Given the description of an element on the screen output the (x, y) to click on. 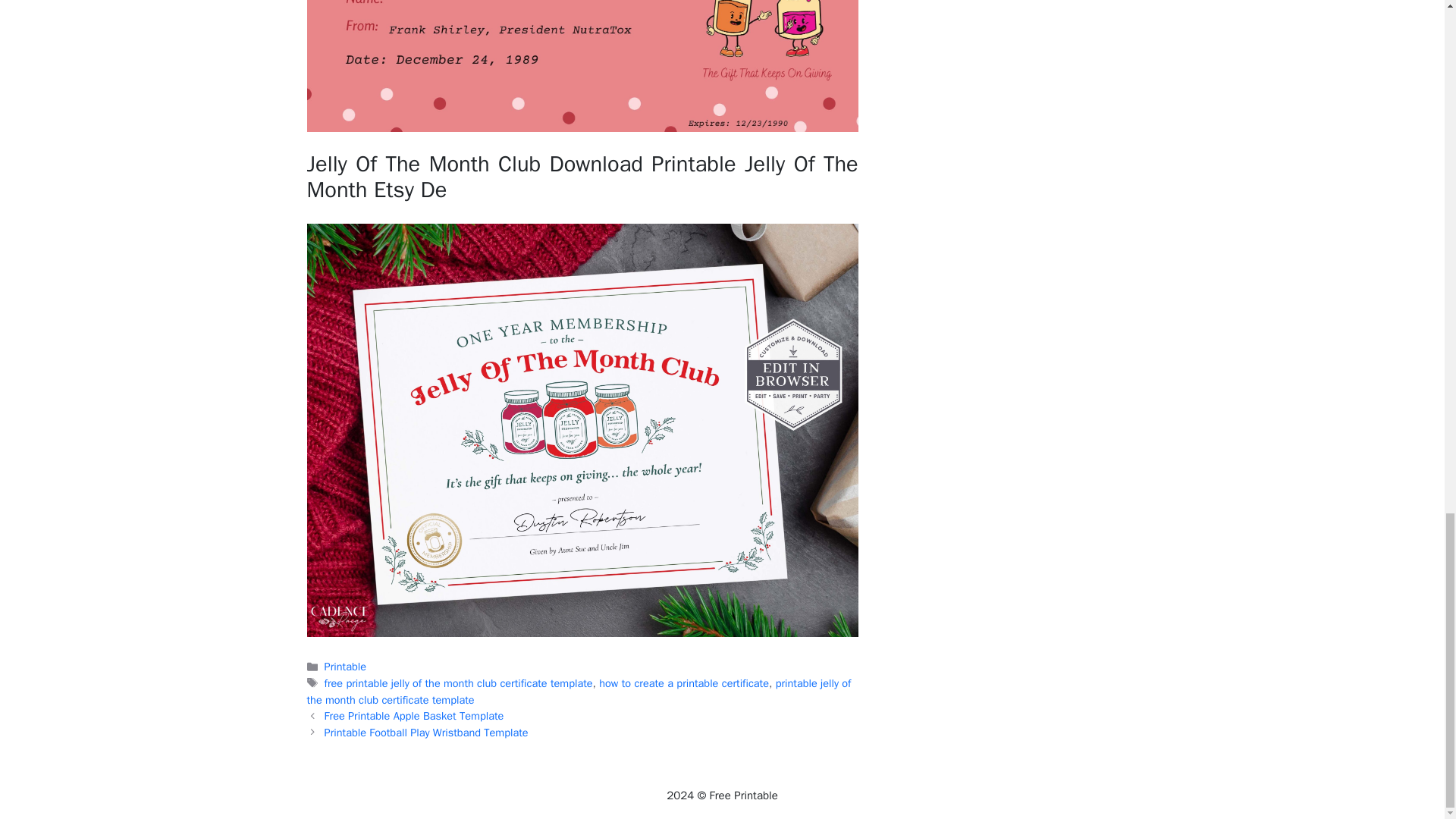
Printable Football Play Wristband Template (426, 732)
free printable jelly of the month club certificate template (458, 683)
Free Printable Apple Basket Template (413, 715)
printable jelly of the month club certificate template (577, 691)
how to create a printable certificate (683, 683)
Printable (345, 666)
Scroll back to top (1406, 143)
